Given the description of an element on the screen output the (x, y) to click on. 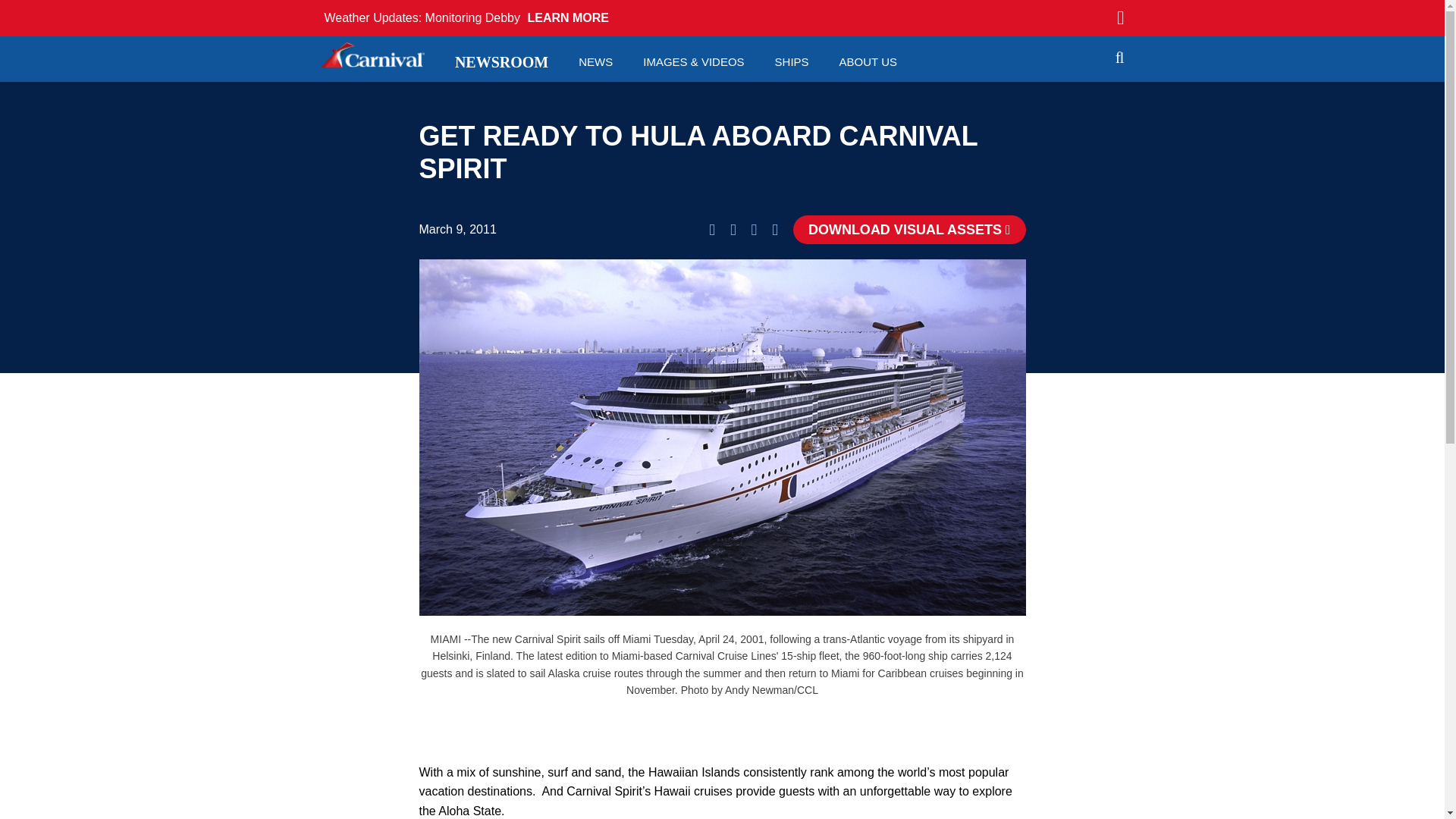
LEARN MORE (567, 17)
NEWSROOM (501, 61)
